Given the description of an element on the screen output the (x, y) to click on. 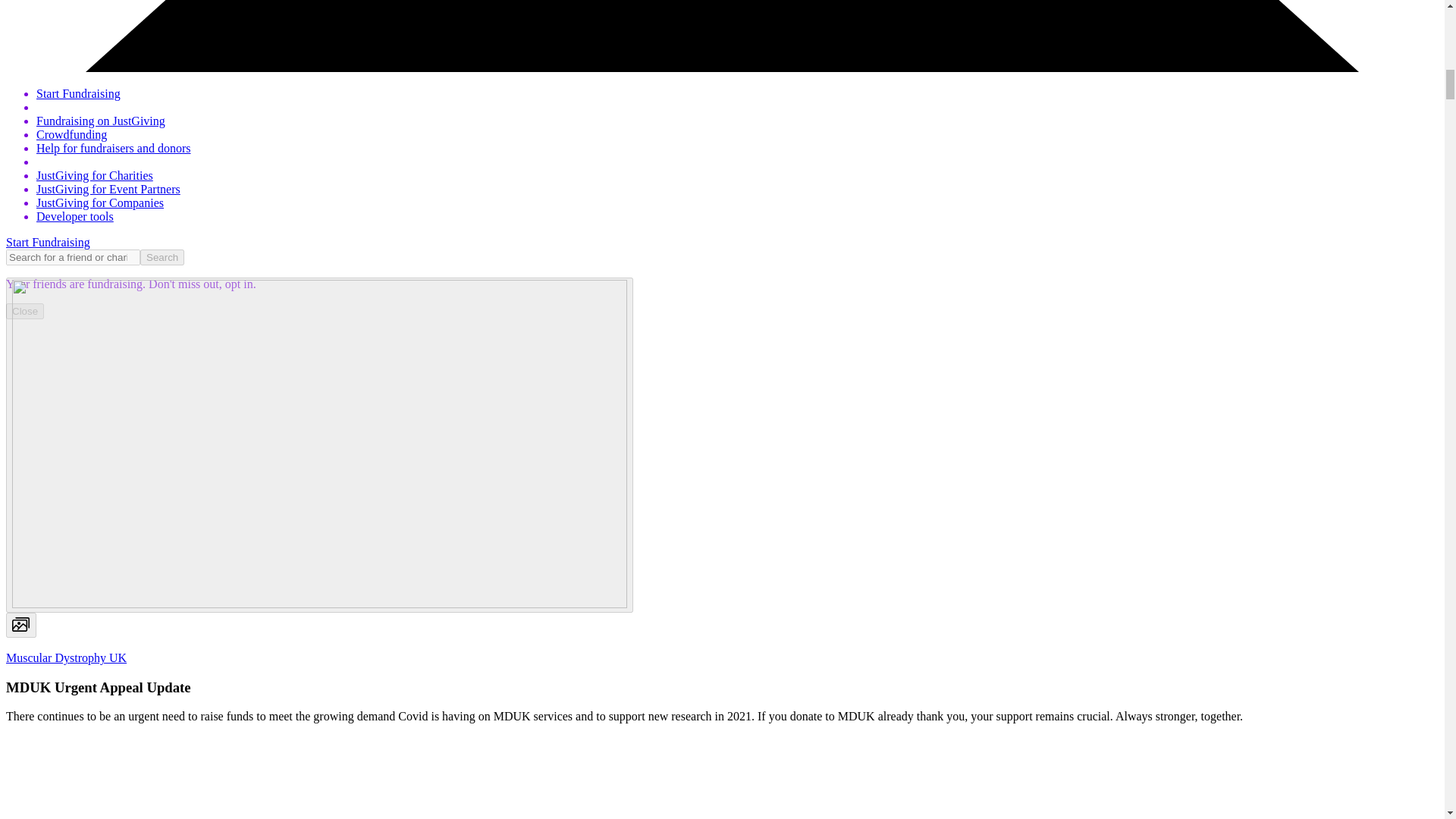
Close (24, 311)
JustGiving for Event Partners (108, 188)
Fundraising on JustGiving (100, 120)
Start Fundraising (47, 241)
Search (161, 257)
JustGiving for Charities (94, 174)
Muscular Dystrophy UK (65, 657)
JustGiving for Companies (99, 202)
Start Fundraising (78, 92)
opt in. (239, 283)
